Given the description of an element on the screen output the (x, y) to click on. 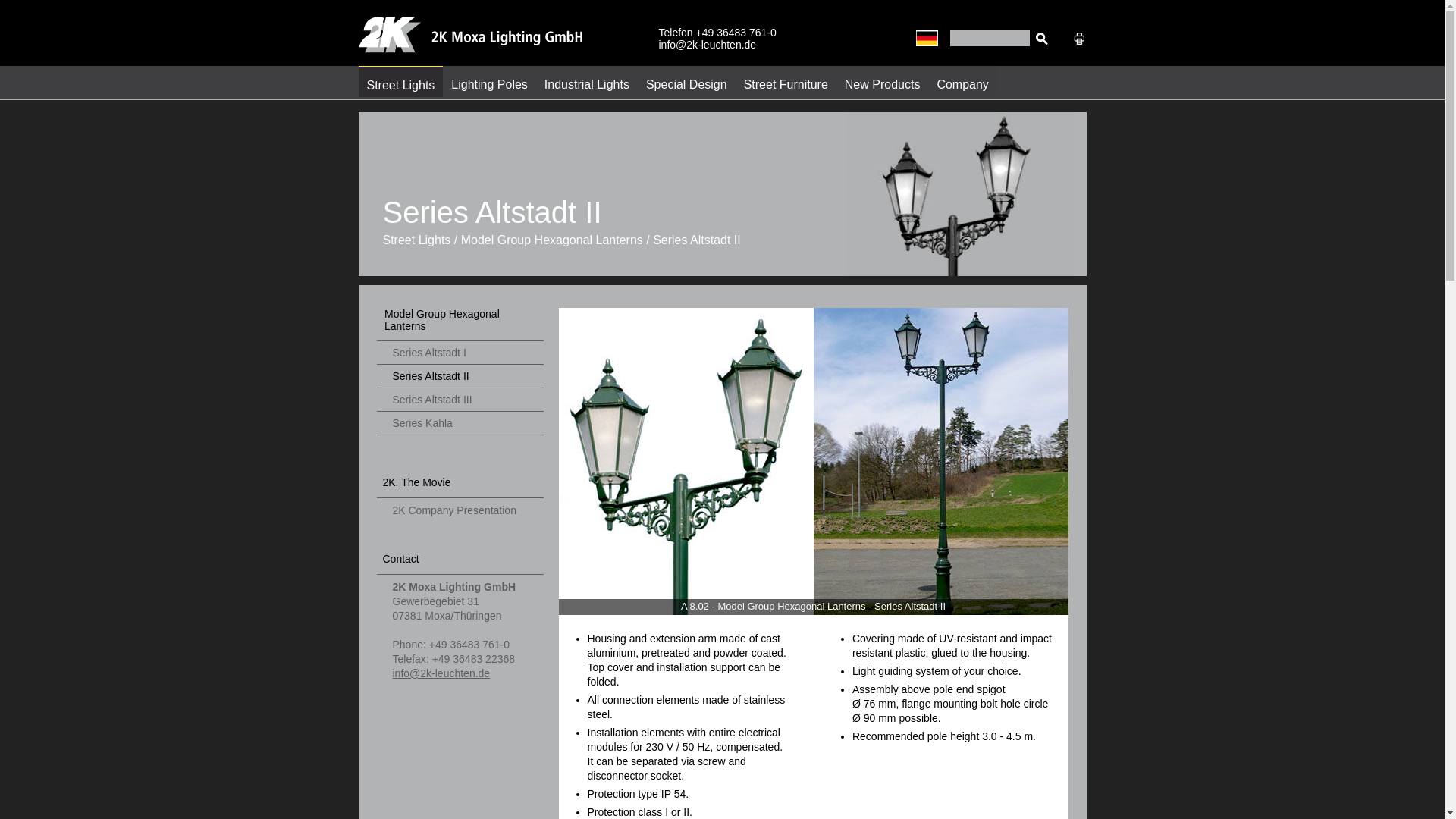
Druckansicht Element type: hover (1078, 42)
A 8.02 - Model Group Hexagonal Lanterns - Series Altstadt II Element type: hover (812, 461)
zur deutschen Website: Serie Altstadt II Element type: hover (927, 38)
Street Furniture Element type: text (785, 80)
Industrial Lights Element type: text (586, 80)
Serie Altstadt II_Kopfbild Element type: hover (960, 194)
Lighting Poles Element type: text (489, 80)
2K Moxa Lighting GmbH Element type: hover (469, 34)
Series Altstadt II Element type: text (464, 378)
2K. The Movie Element type: text (459, 487)
Company Element type: text (962, 80)
Series Kahla Element type: text (464, 425)
Street Lights Element type: text (399, 81)
2K Moxa Lighting GmbH Element type: hover (469, 48)
Series Altstadt I Element type: text (464, 354)
Special Design Element type: text (686, 80)
zur deutschen Website: Serie Altstadt II Element type: hover (927, 42)
Druckansicht Element type: hover (1078, 38)
Model Group Hexagonal Lanterns Element type: text (459, 324)
New Products Element type: text (882, 80)
info@2k-leuchten.de Element type: text (441, 673)
Series Altstadt III Element type: text (464, 401)
